Given the description of an element on the screen output the (x, y) to click on. 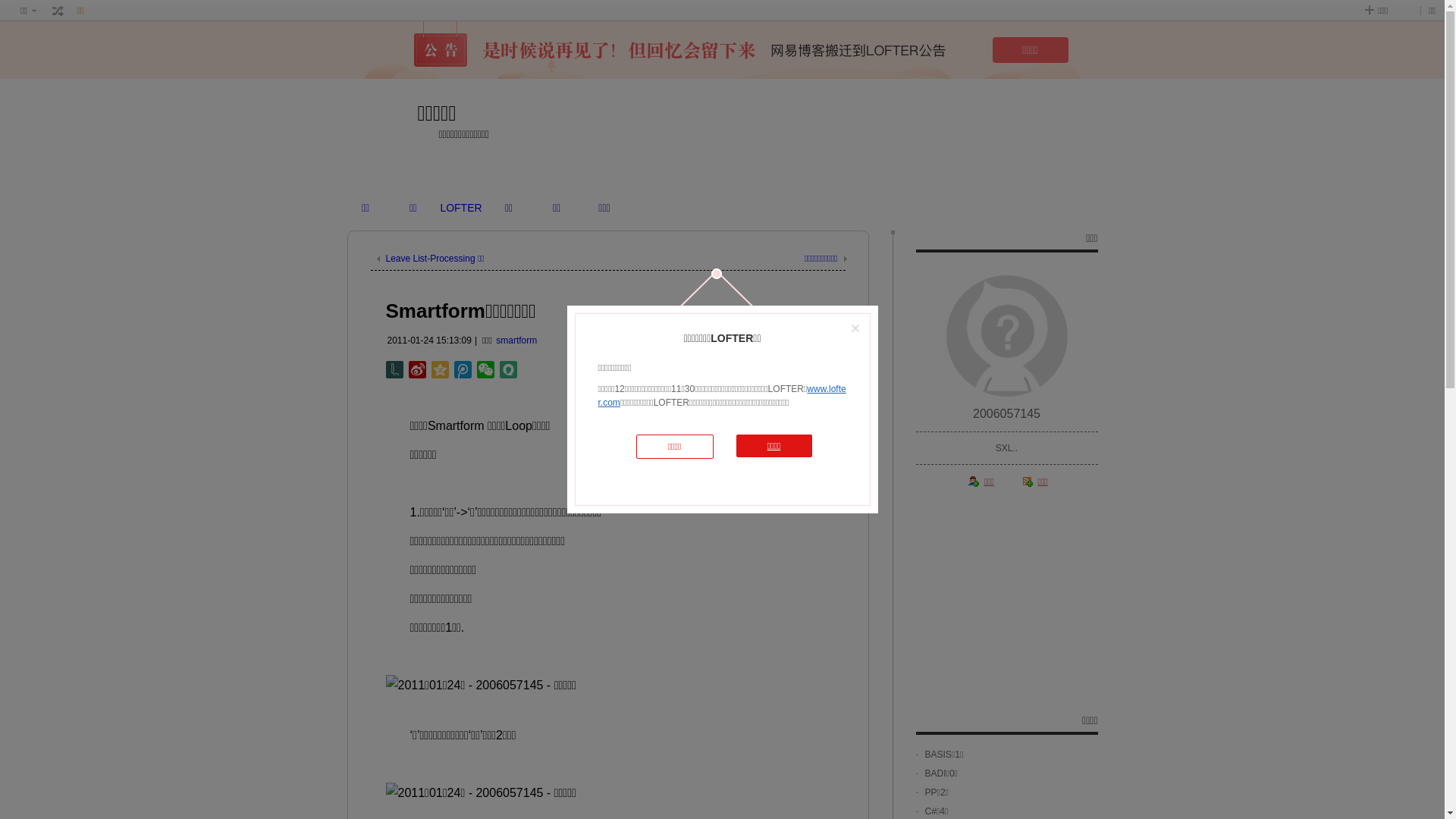
www.lofter.com Element type: text (721, 395)
2006057145 Element type: text (1006, 413)
  Element type: text (58, 10)
smartform Element type: text (515, 340)
LOFTER Element type: text (460, 207)
